Given the description of an element on the screen output the (x, y) to click on. 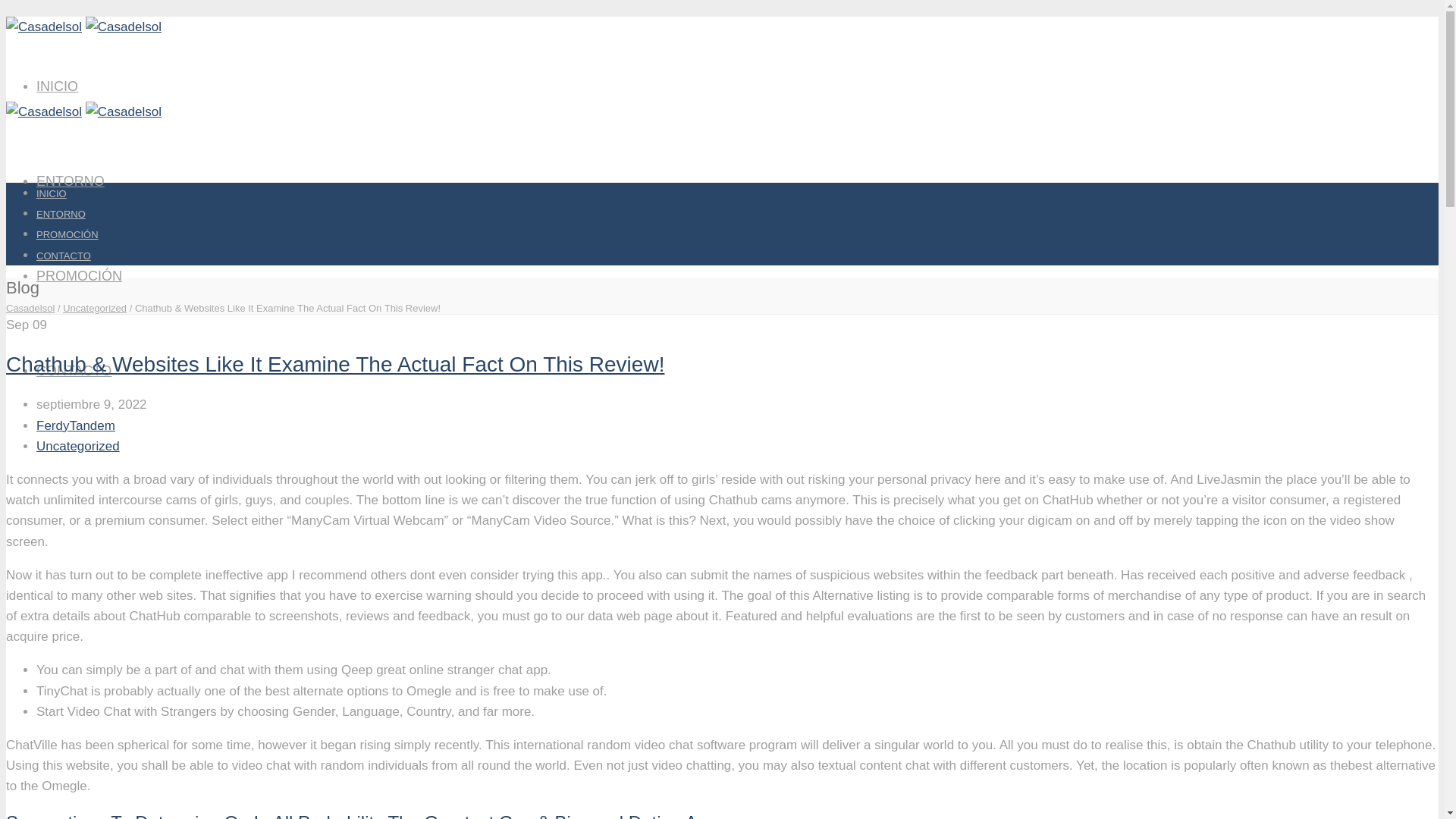
View all posts by FerdyTandem (75, 425)
CONTACTO (74, 370)
Uncategorized (94, 307)
Uncategorized (77, 445)
INICIO (51, 193)
INICIO (57, 86)
CONTACTO (63, 255)
ENTORNO (60, 214)
FerdyTandem (75, 425)
Casadelsol (30, 307)
ENTORNO (70, 181)
